Given the description of an element on the screen output the (x, y) to click on. 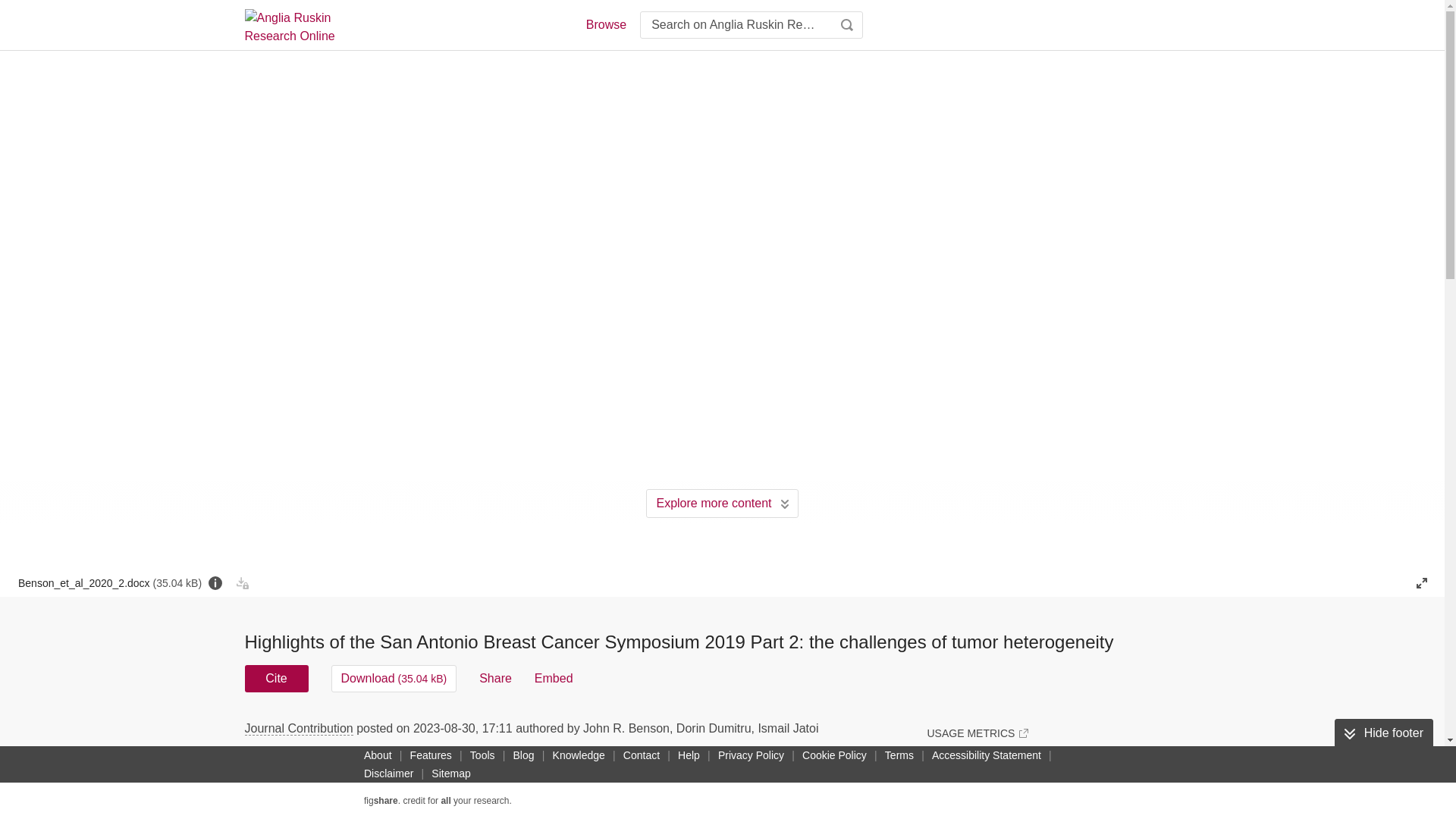
Blog (523, 755)
Features (431, 755)
Tools (482, 755)
Cite (275, 678)
Hide footer (1383, 733)
Help (688, 755)
About (377, 755)
Knowledge (579, 755)
Embed (553, 678)
Share (495, 678)
Browse (605, 24)
Contact (640, 755)
Explore more content (721, 502)
USAGE METRICS (976, 732)
